Given the description of an element on the screen output the (x, y) to click on. 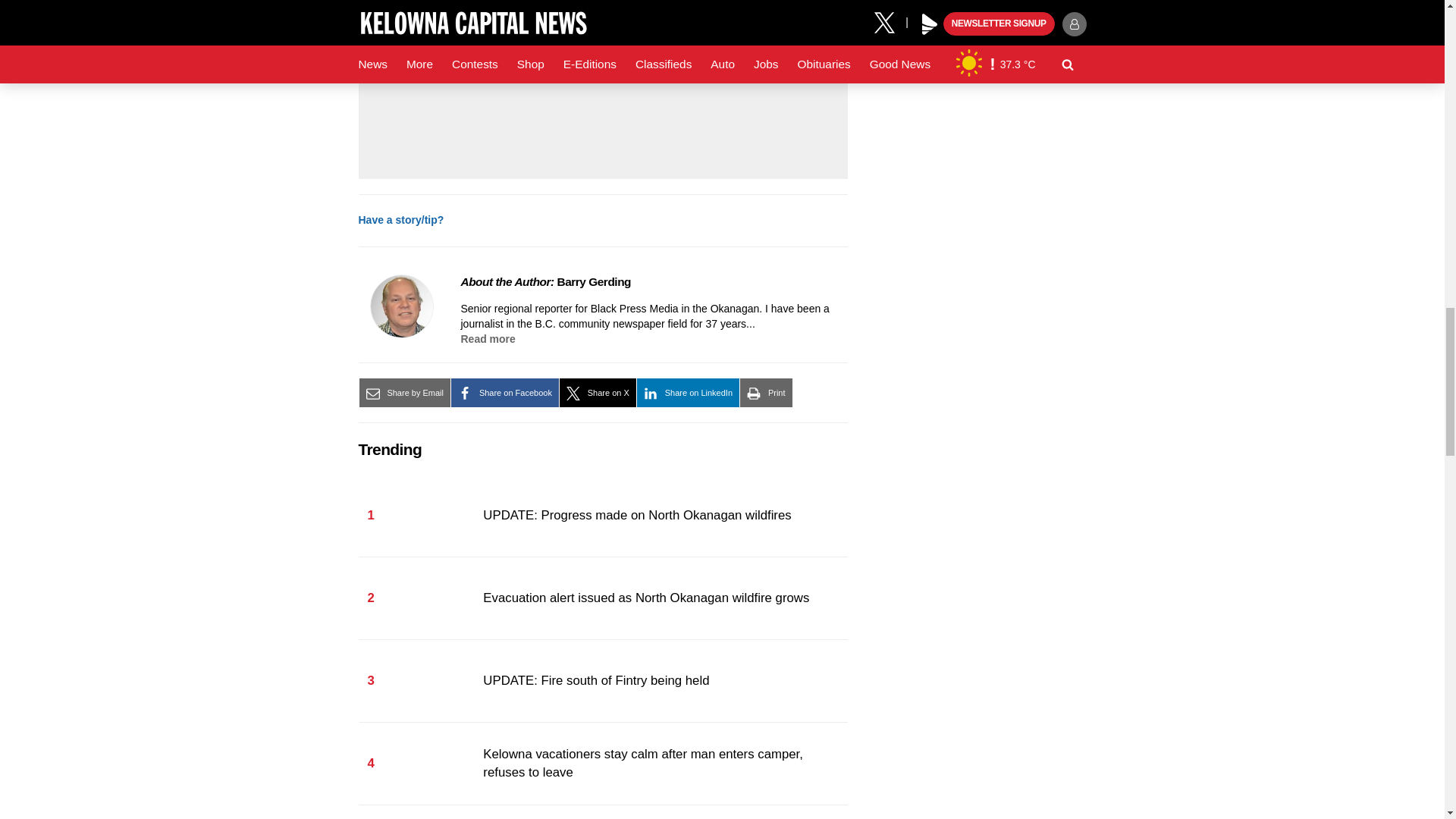
3rd party ad content (602, 87)
